Given the description of an element on the screen output the (x, y) to click on. 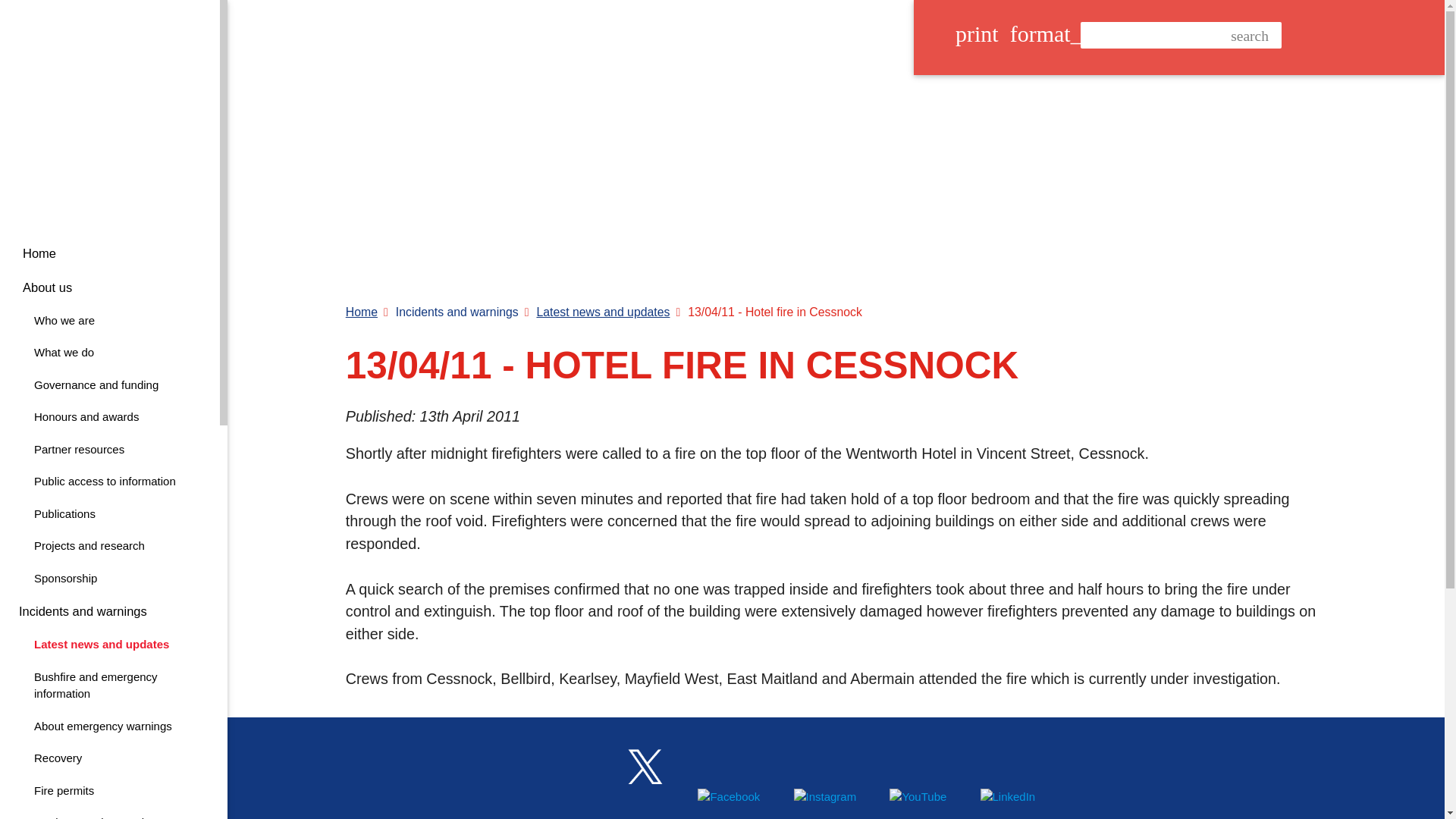
Latest news and updates (109, 644)
Fire and Rescue NSW (104, 114)
Publications (109, 514)
Governance and funding (109, 384)
Fire permits (109, 791)
Sponsorship (109, 579)
Partner resources (109, 449)
Home (109, 253)
About emergency warnings (109, 726)
